Given the description of an element on the screen output the (x, y) to click on. 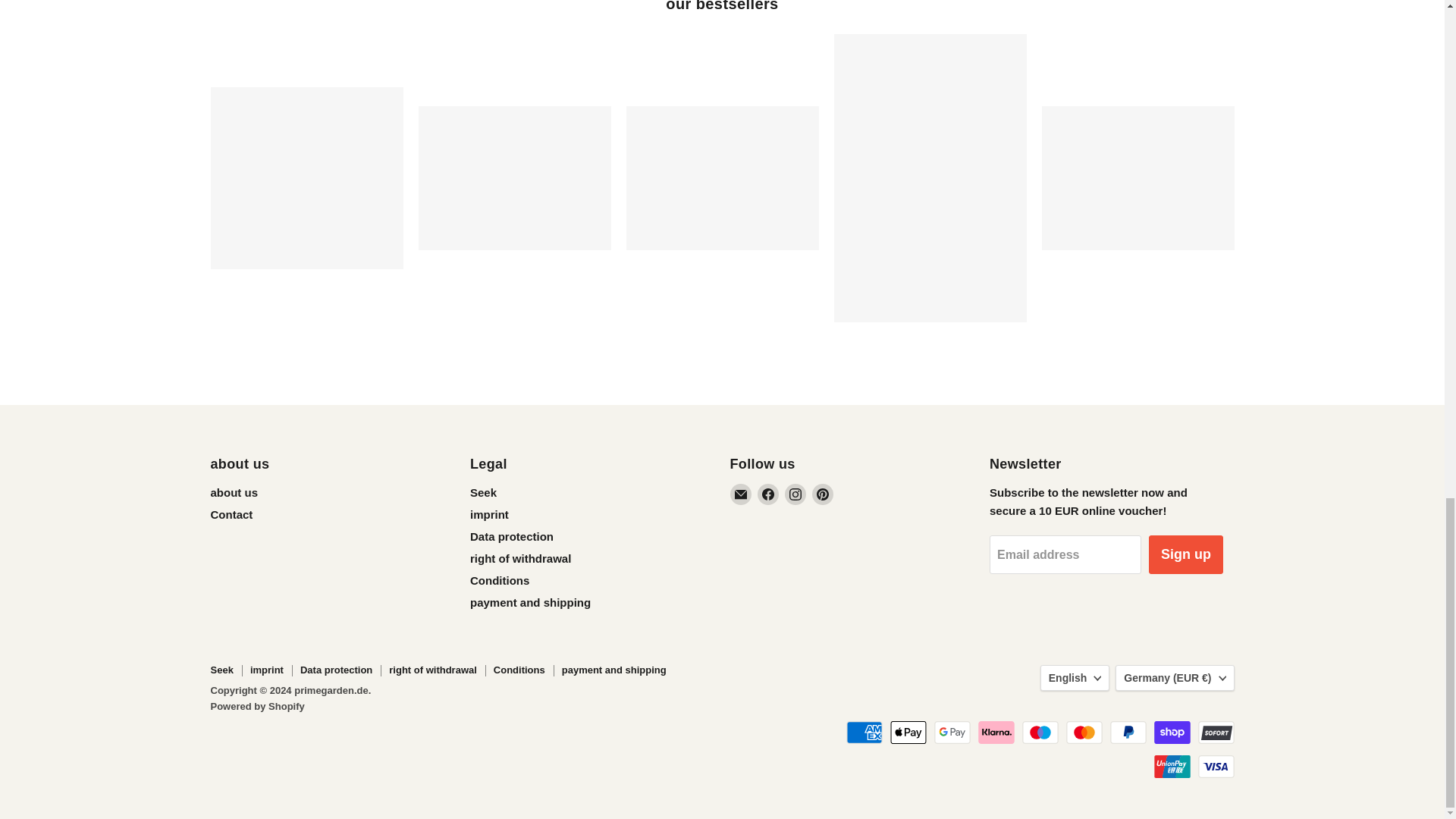
Pinterest (821, 494)
Email (740, 494)
Instagram (794, 494)
Facebook (767, 494)
